Given the description of an element on the screen output the (x, y) to click on. 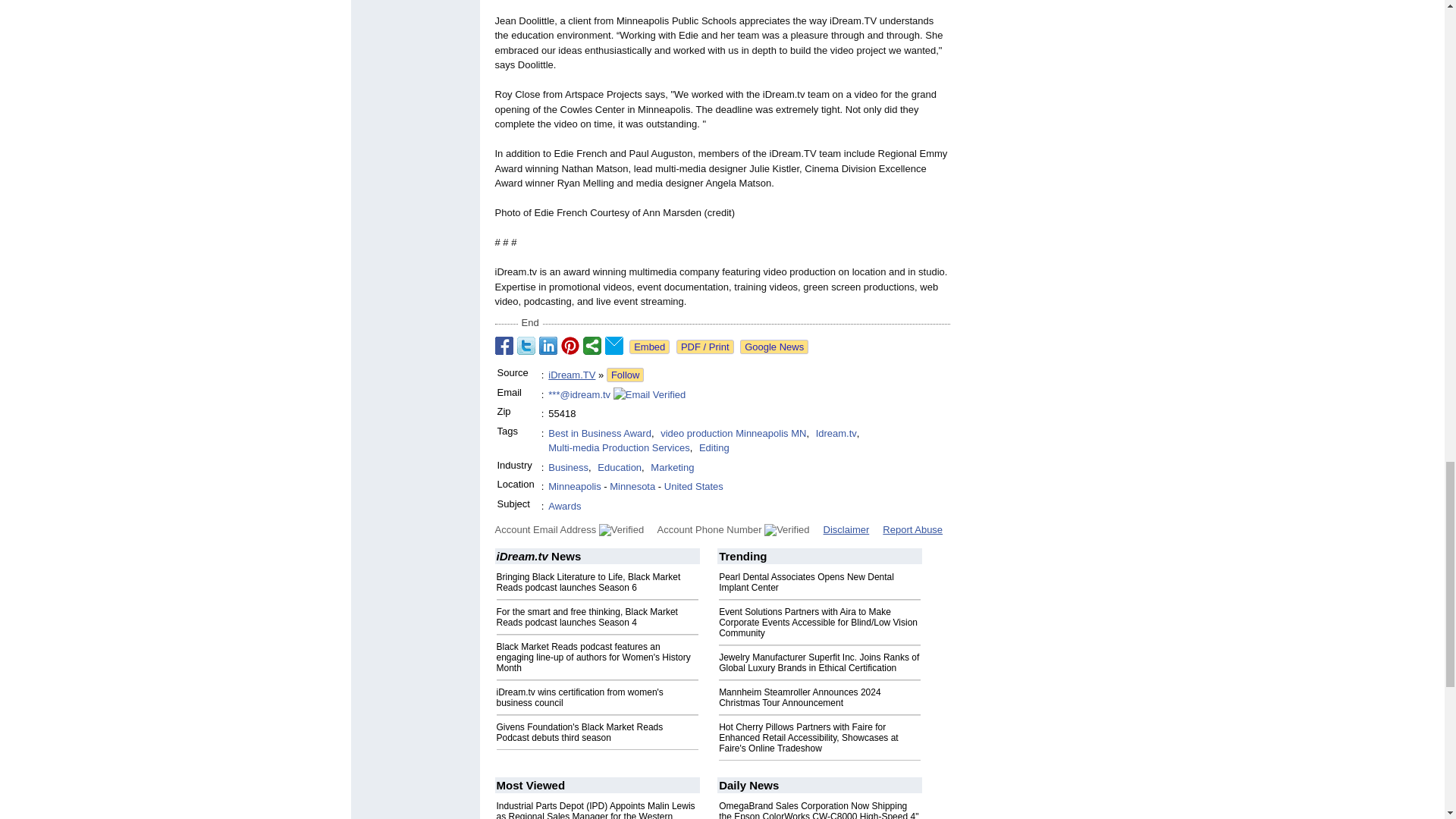
Email to a Friend (614, 345)
Verified (620, 530)
See or print the PDF version! (705, 346)
Embed (648, 346)
Share on Pinterest (569, 345)
Embed this press release in your website! (648, 346)
Share on Facebook (503, 345)
Email Verified (648, 394)
Share on LinkedIn (547, 345)
Share on StumbleUpon, Digg, etc (590, 345)
Share on Twitter (525, 345)
Verified (786, 530)
